Given the description of an element on the screen output the (x, y) to click on. 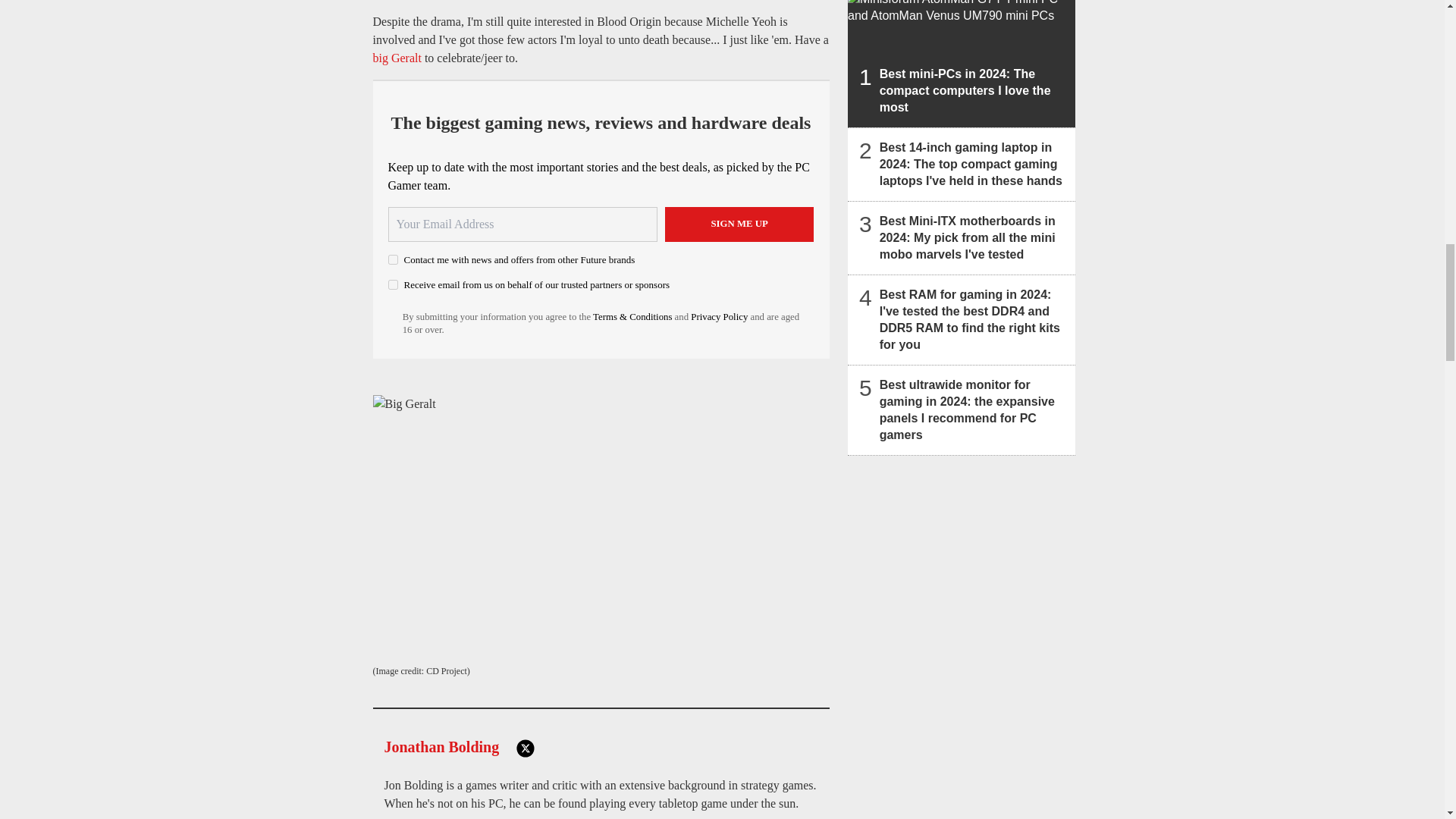
Sign me up (739, 224)
on (392, 284)
on (392, 259)
